Given the description of an element on the screen output the (x, y) to click on. 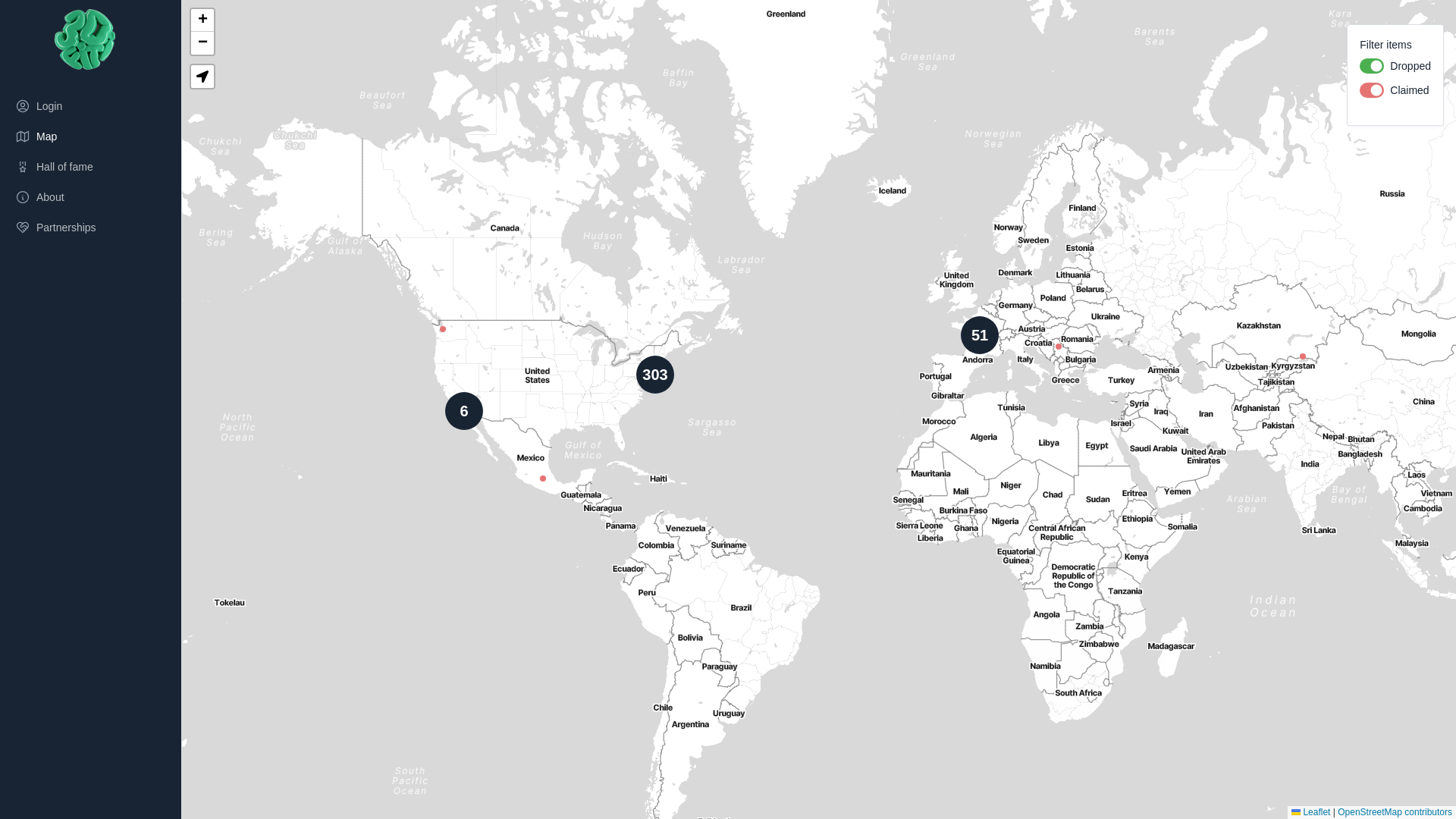
Leaflet Element type: text (1310, 811)
Map Element type: text (84, 136)
About Element type: text (84, 197)
Show me where I am Element type: hover (202, 76)
Login Element type: text (84, 106)
Hall of fame Element type: text (84, 166)
OpenStreetMap contributors Element type: text (1394, 811)
+ Element type: text (202, 20)
Partnerships Element type: text (84, 227)
